Given the description of an element on the screen output the (x, y) to click on. 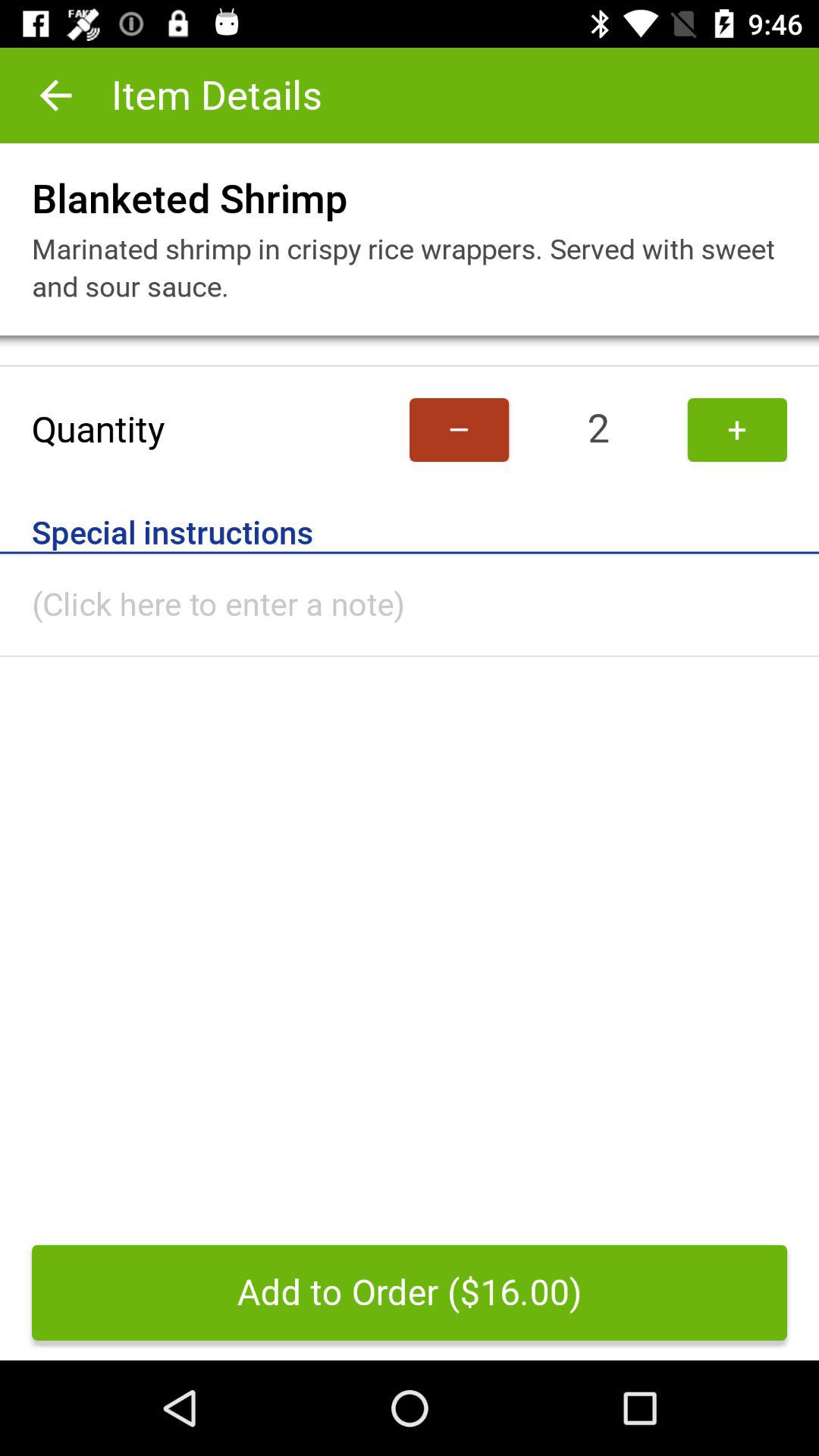
click item to the right of the 2 item (737, 429)
